Given the description of an element on the screen output the (x, y) to click on. 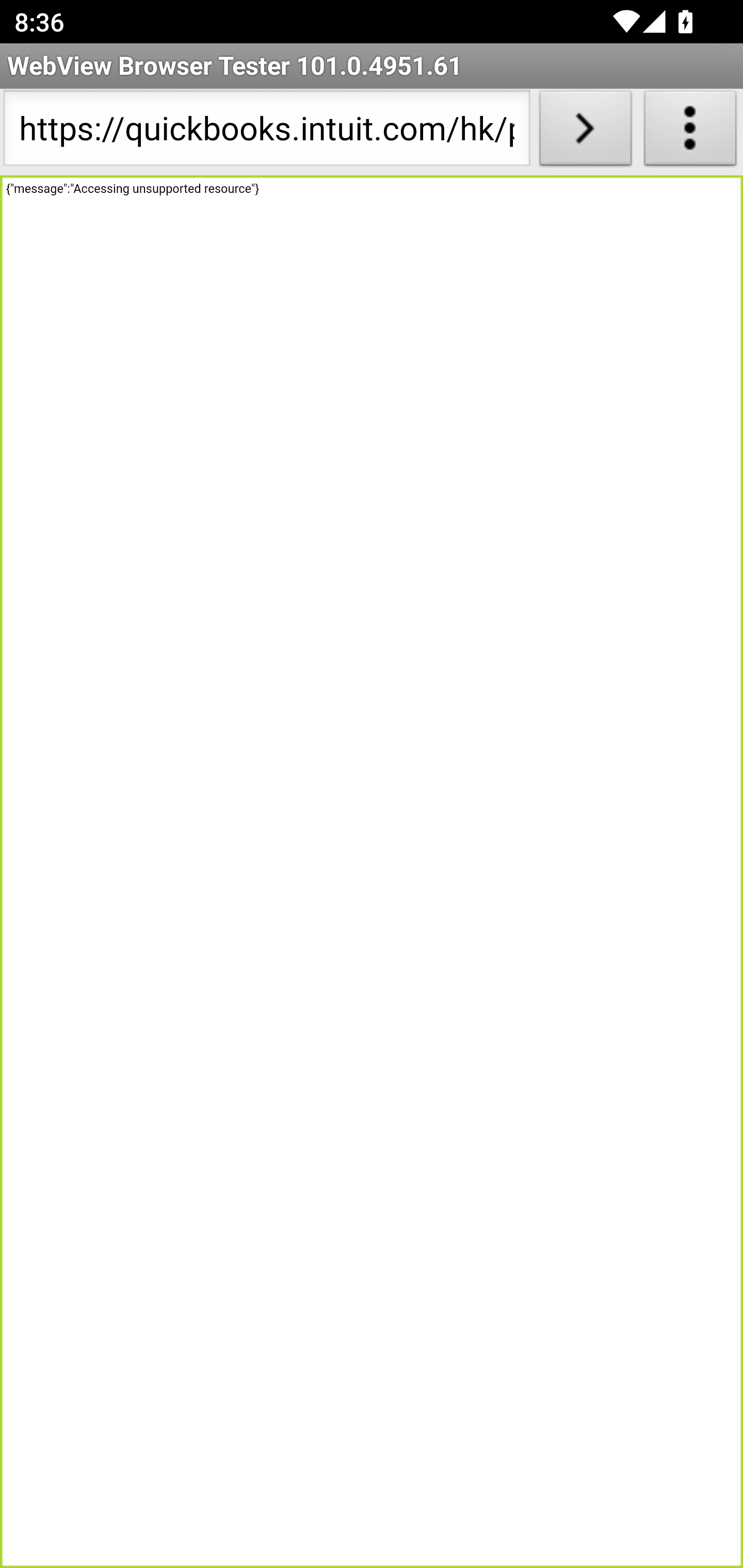
Load URL (585, 132)
About WebView (690, 132)
